Given the description of an element on the screen output the (x, y) to click on. 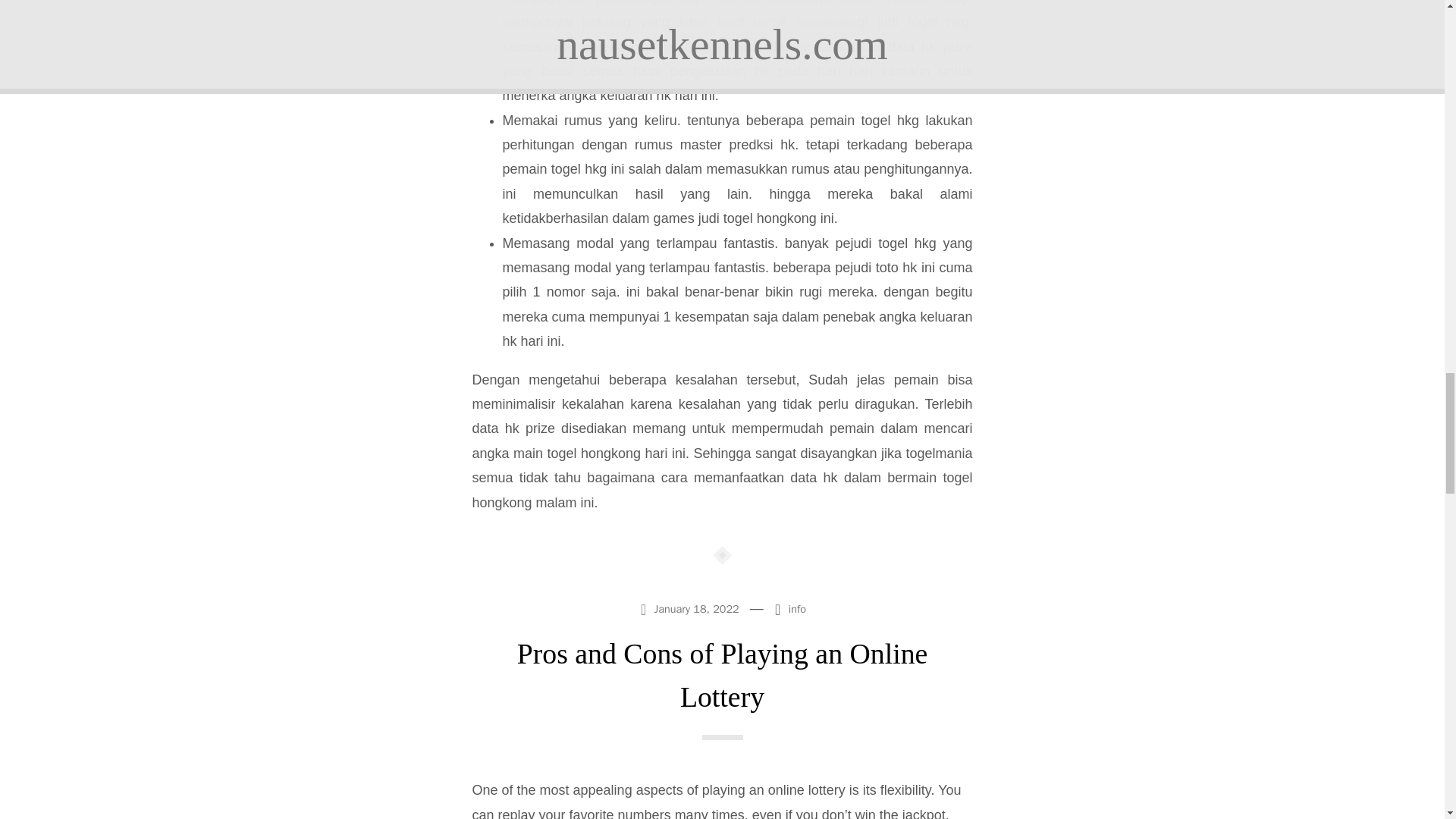
info (797, 608)
Pros and Cons of Playing an Online Lottery (722, 675)
January 18, 2022 (690, 607)
